Given the description of an element on the screen output the (x, y) to click on. 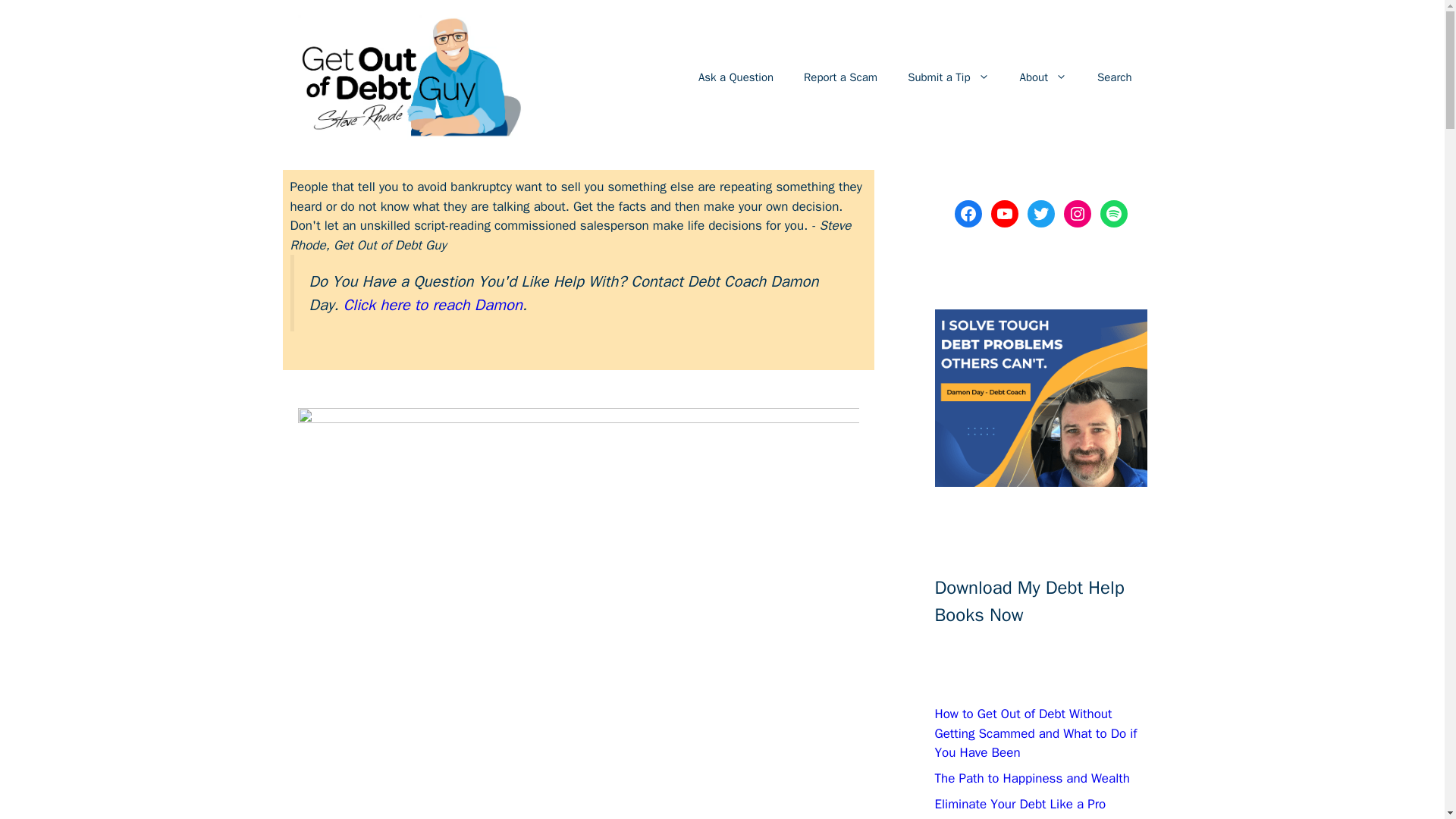
Ask a Question (735, 76)
About (1042, 76)
Search (1114, 76)
Submit a Tip (948, 76)
Click here to reach Damon (432, 304)
Report a Scam (840, 76)
